Given the description of an element on the screen output the (x, y) to click on. 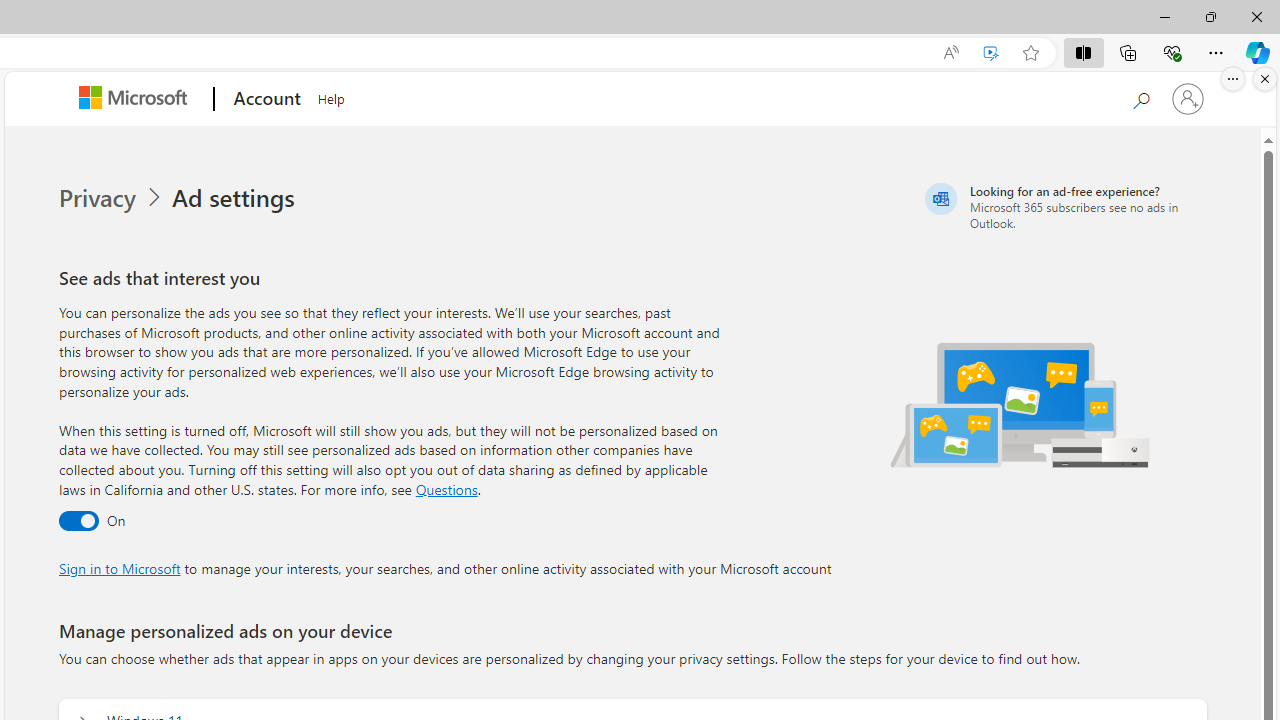
More options. (1233, 79)
Enhance video (991, 53)
Ad settings (236, 197)
Sign in to your account (1188, 98)
Help (331, 96)
Microsoft (136, 99)
Account (264, 99)
Search Microsoft.com (1140, 97)
